Given the description of an element on the screen output the (x, y) to click on. 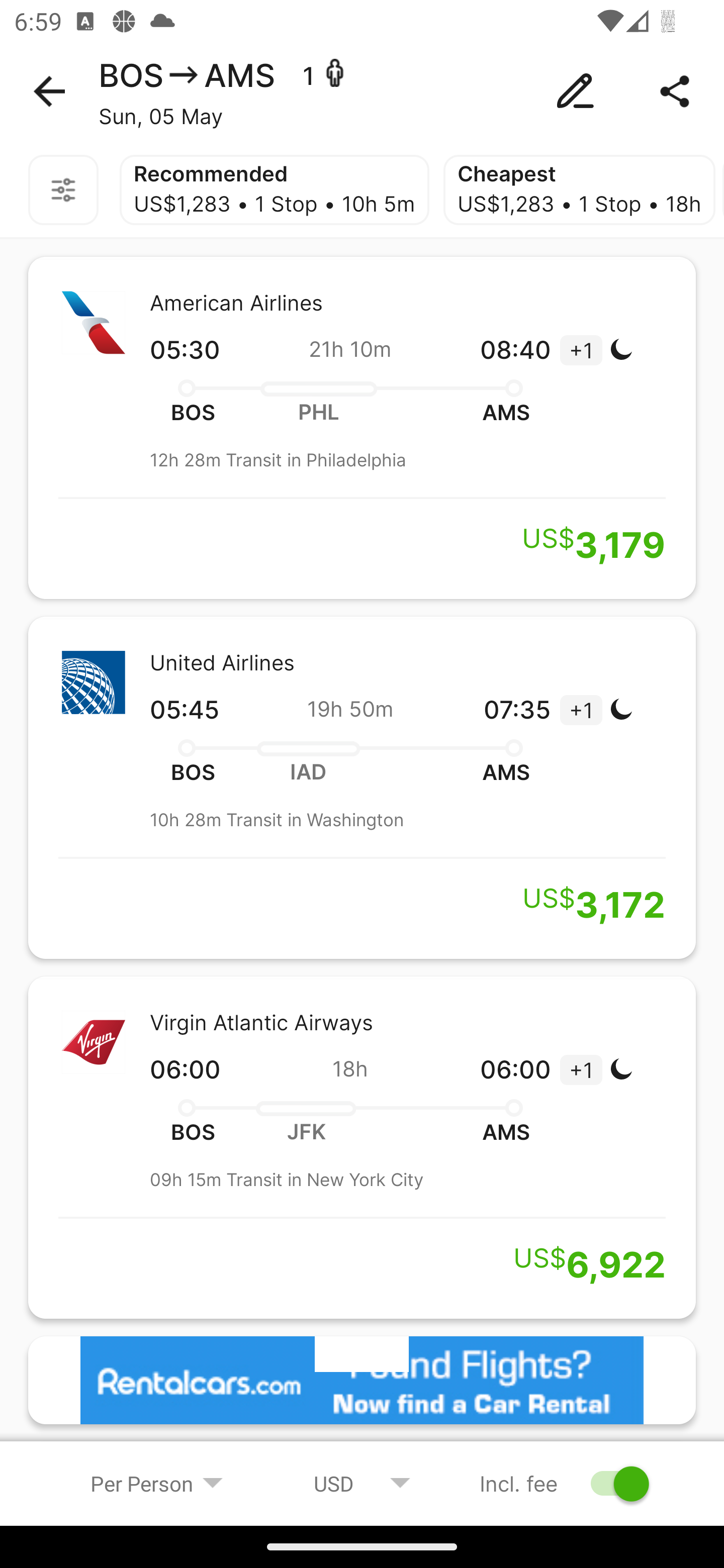
BOS AMS   1 - Sun, 05 May (361, 91)
Recommended  US$1,283 • 1 Stop • 10h 5m (274, 190)
Cheapest US$1,283 • 1 Stop • 18h (579, 190)
Per Person (156, 1482)
USD (361, 1482)
